Given the description of an element on the screen output the (x, y) to click on. 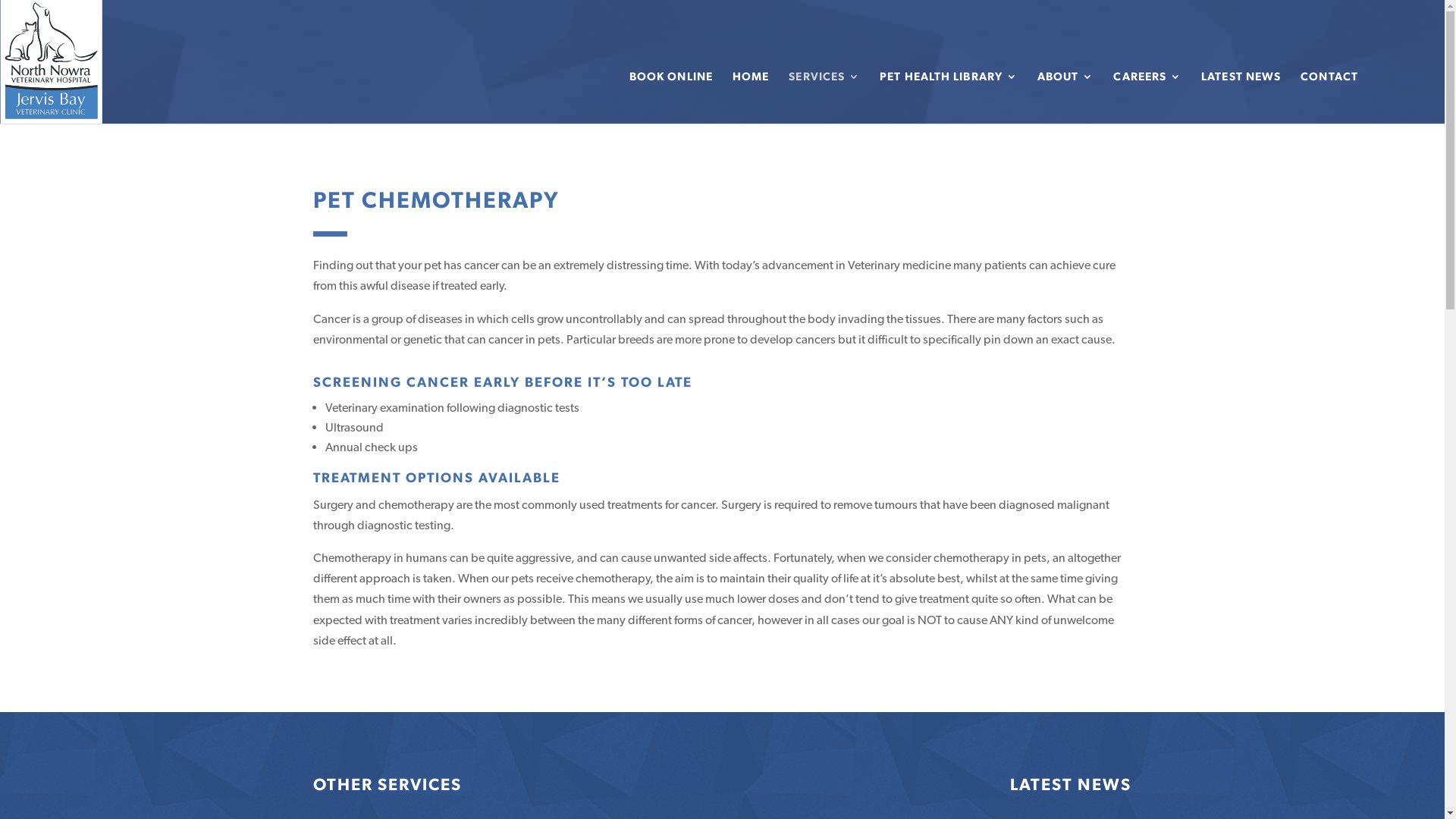
HOME Element type: text (750, 96)
CONTACT Element type: text (1329, 96)
ABOUT Element type: text (1065, 96)
LATEST NEWS Element type: text (1240, 96)
BOOK ONLINE Element type: text (670, 96)
SERVICES Element type: text (823, 96)
PET HEALTH LIBRARY Element type: text (948, 96)
CAREERS Element type: text (1147, 96)
